Given the description of an element on the screen output the (x, y) to click on. 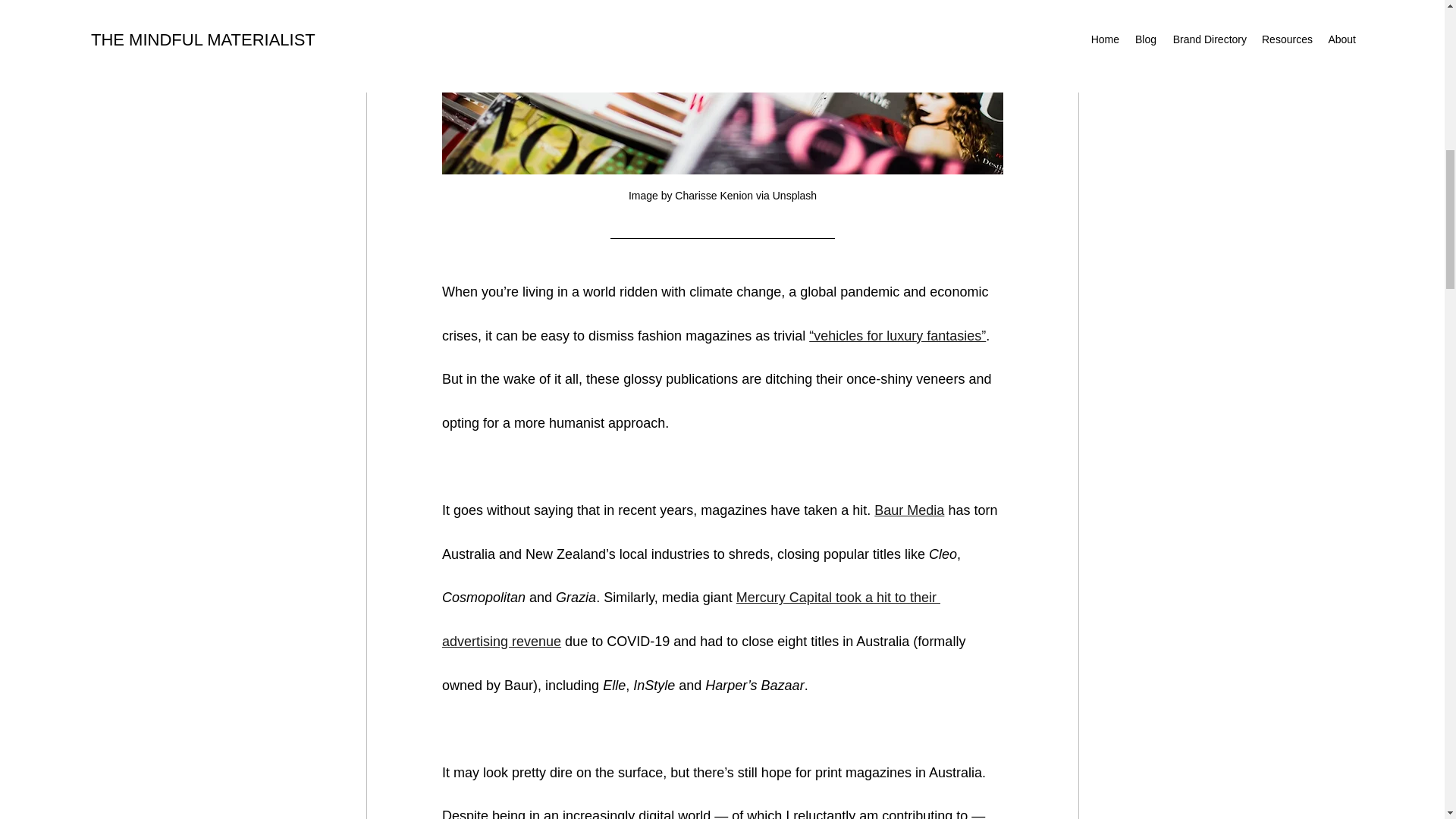
Mercury Capital took a hit to their advertising revenue (690, 619)
Baur Media (909, 509)
